Given the description of an element on the screen output the (x, y) to click on. 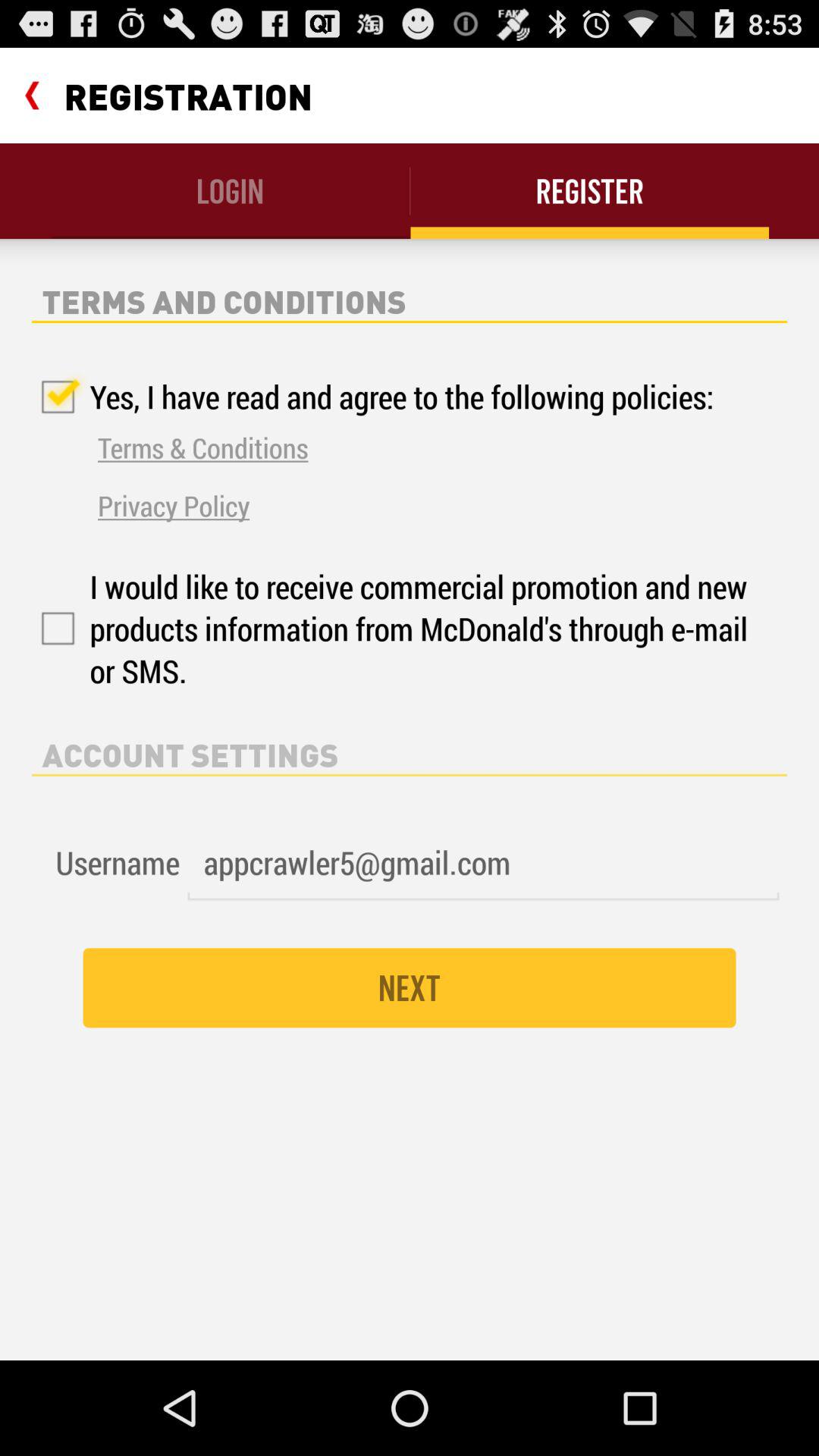
open the icon above the i would like icon (173, 505)
